Given the description of an element on the screen output the (x, y) to click on. 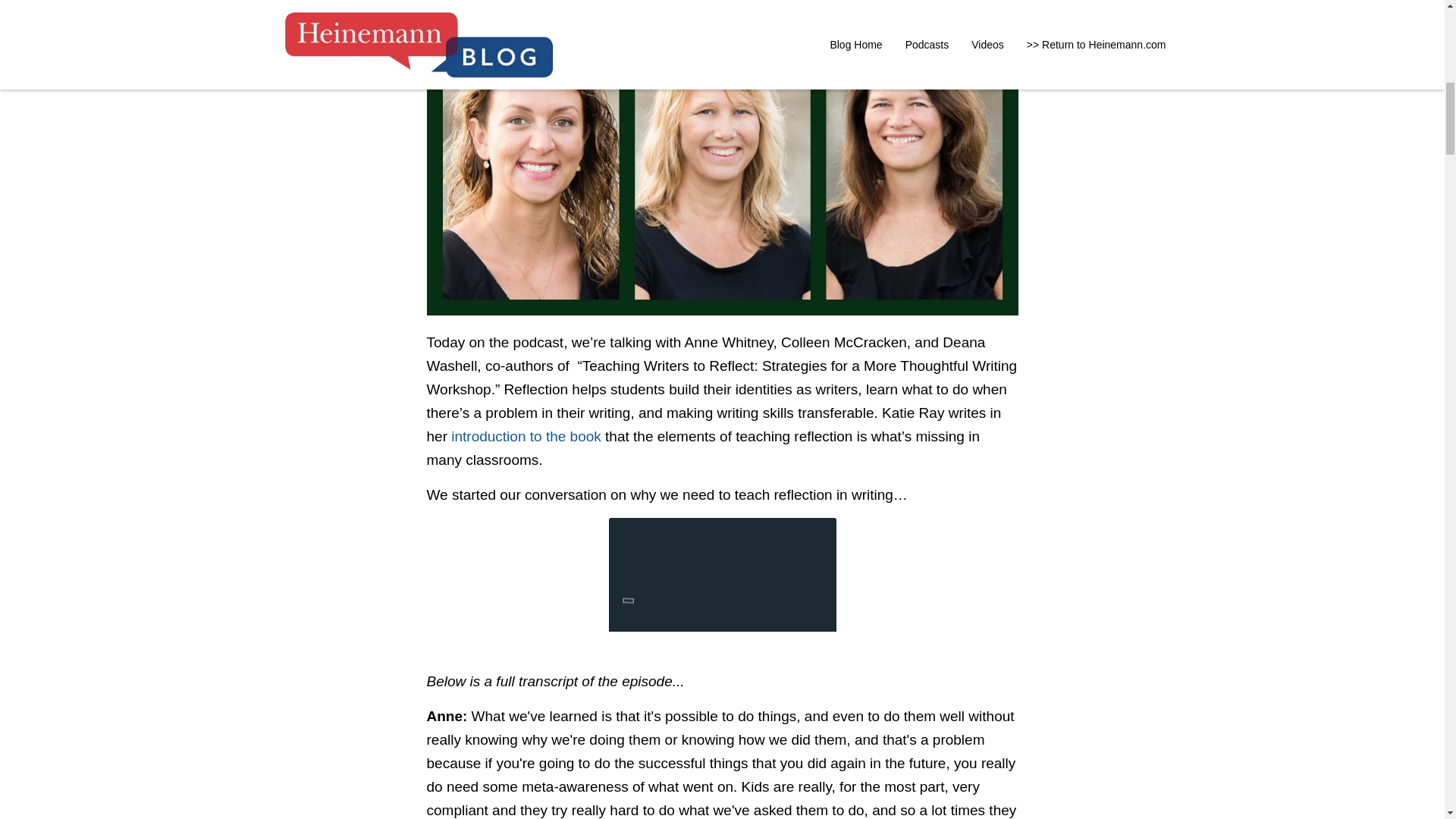
introduction to the book (526, 436)
